Given the description of an element on the screen output the (x, y) to click on. 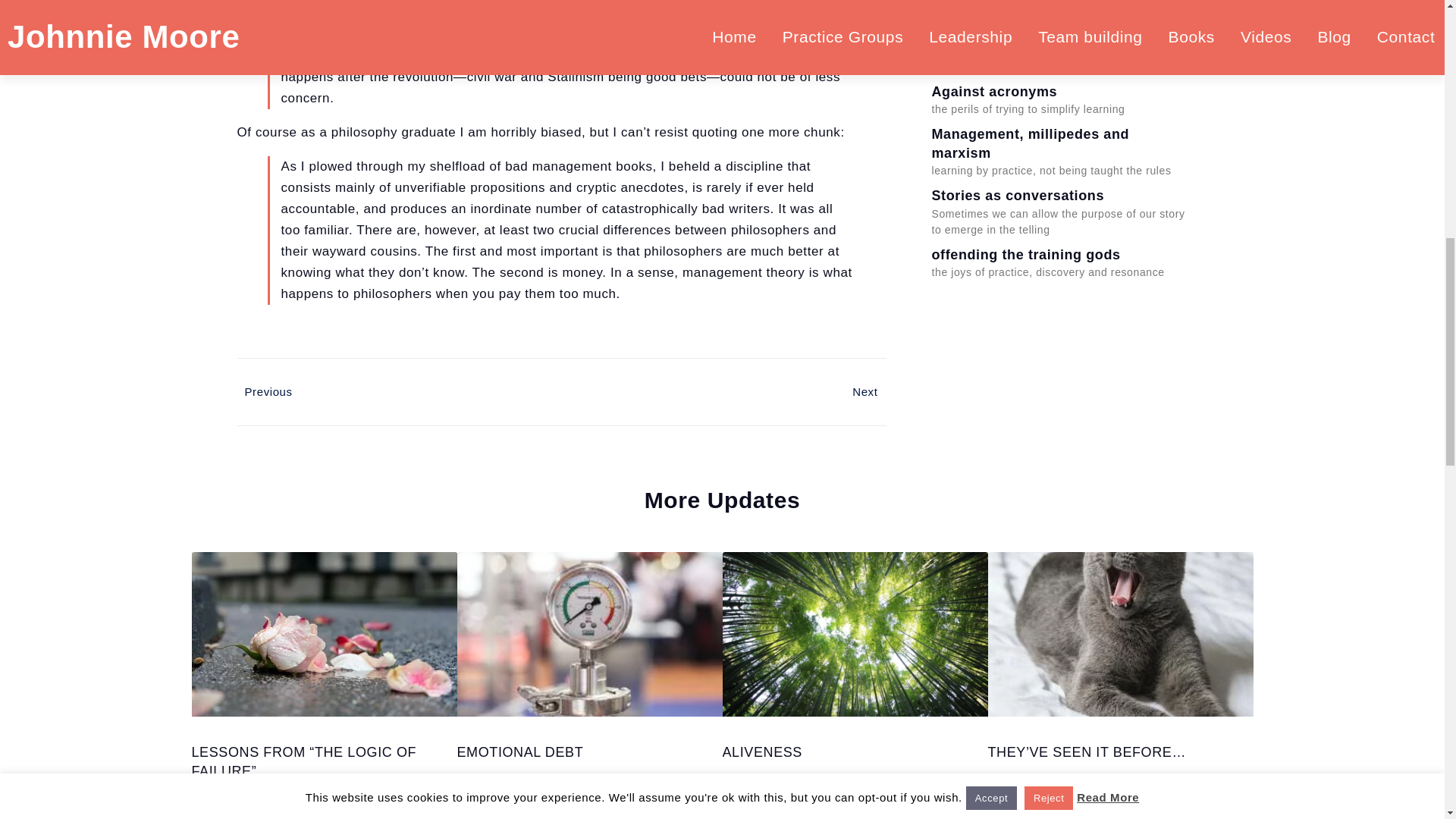
Previous (397, 391)
